Given the description of an element on the screen output the (x, y) to click on. 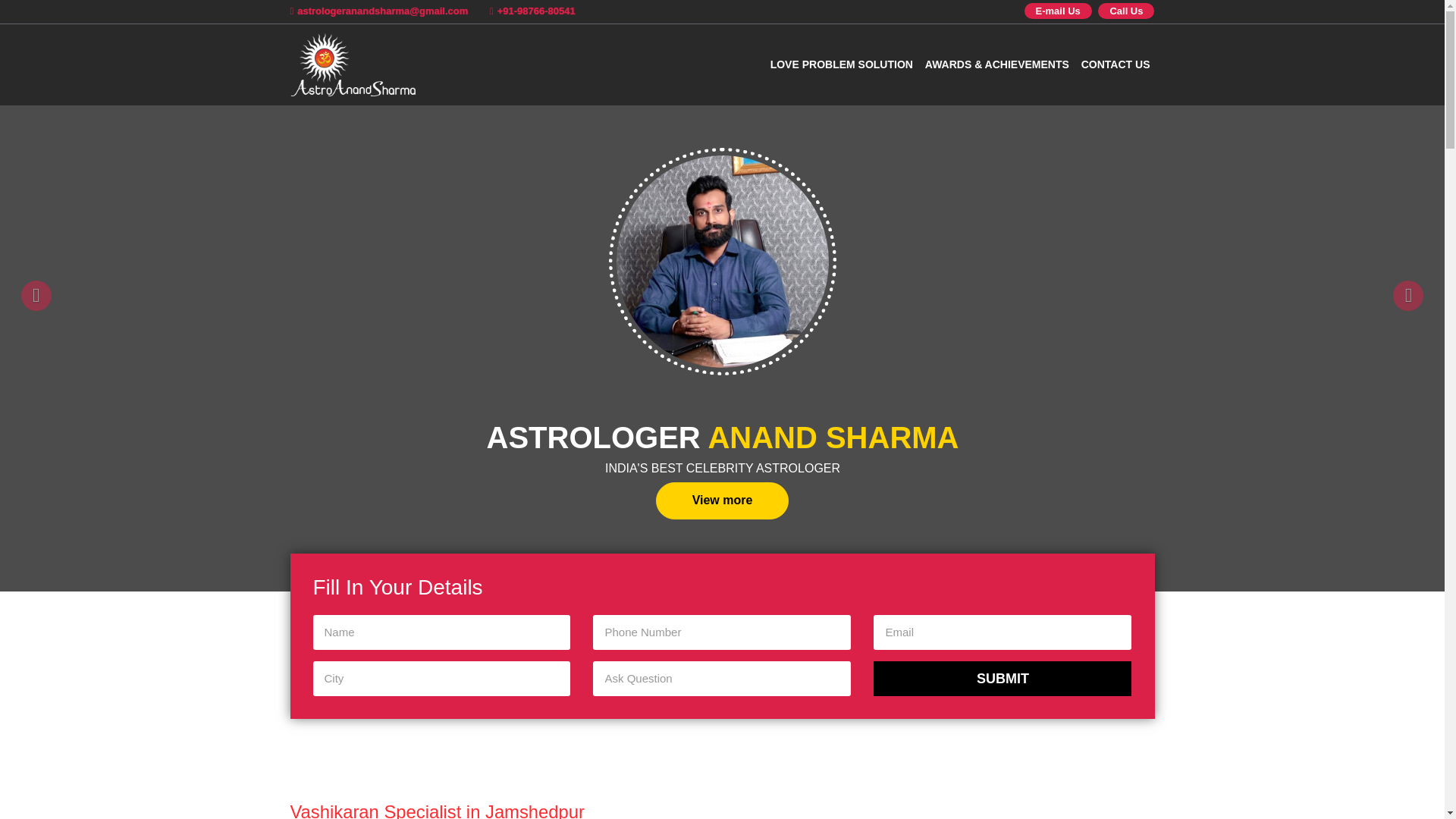
CONTACT US (1115, 64)
E-mail Us (1058, 10)
Call Us (1125, 10)
SUBMIT (1002, 678)
View more (722, 500)
LOVE PROBLEM SOLUTION (841, 64)
SUBMIT (1002, 678)
